Given the description of an element on the screen output the (x, y) to click on. 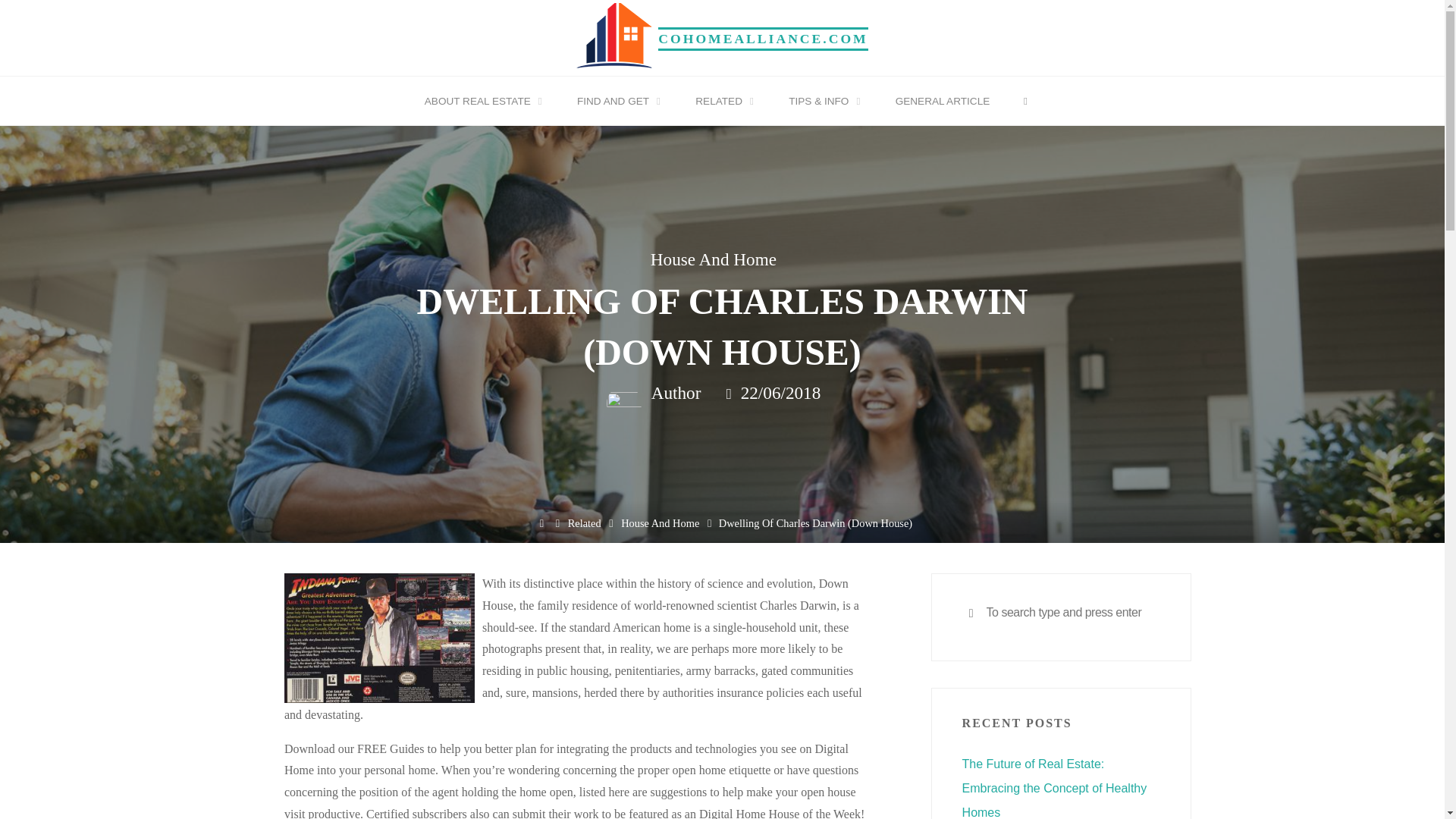
Find Your Ideal Home (762, 38)
ABOUT REAL ESTATE (480, 101)
COHOMEALLIANCE.COM (762, 38)
View all posts by Author (673, 393)
Date (729, 393)
cohomealliance.com (614, 36)
Home (541, 522)
